Given the description of an element on the screen output the (x, y) to click on. 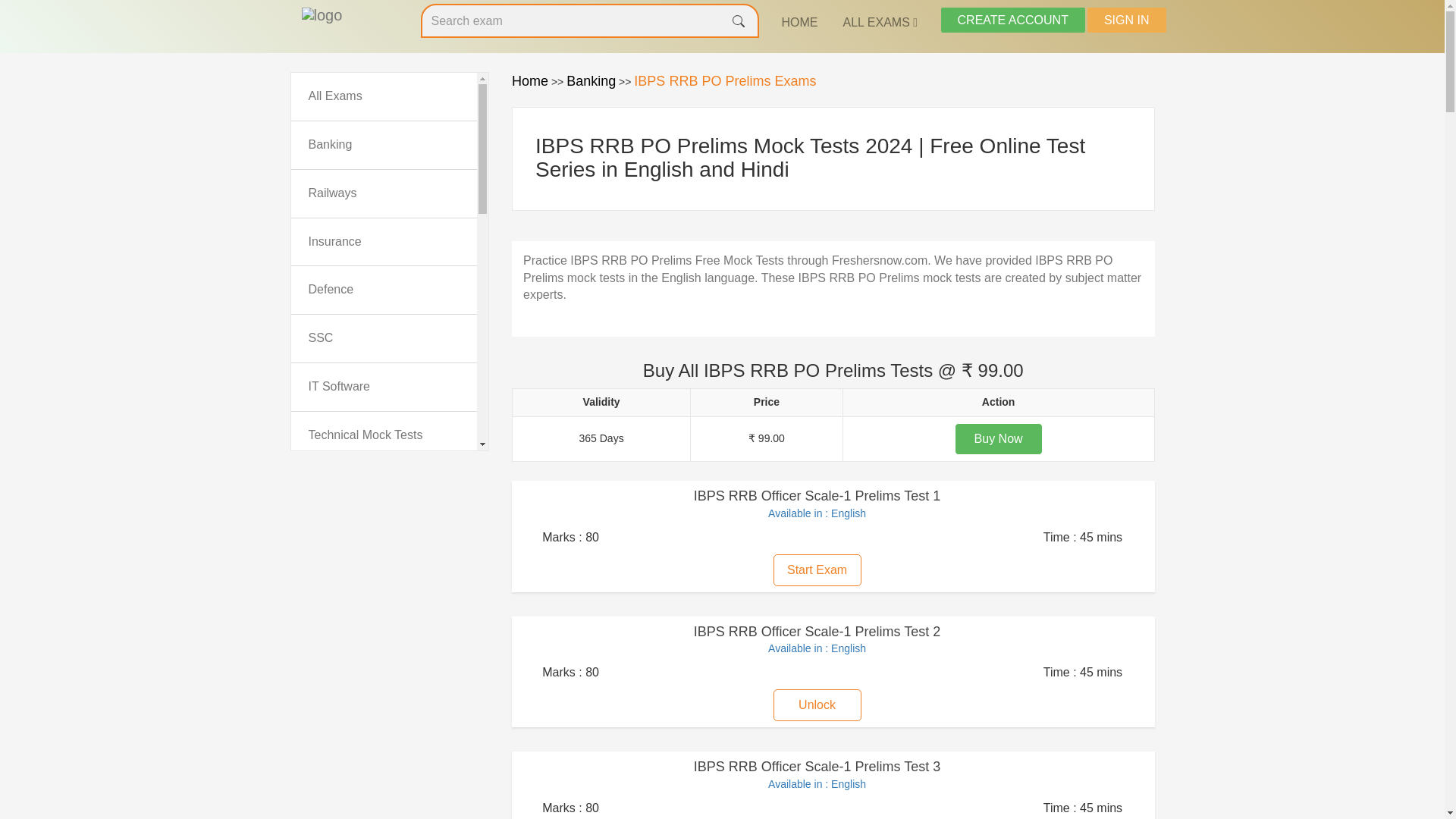
ALL EXAMS (879, 22)
CREATE ACCOUNT (1012, 19)
HOME (799, 22)
SIGN IN (1126, 19)
